Given the description of an element on the screen output the (x, y) to click on. 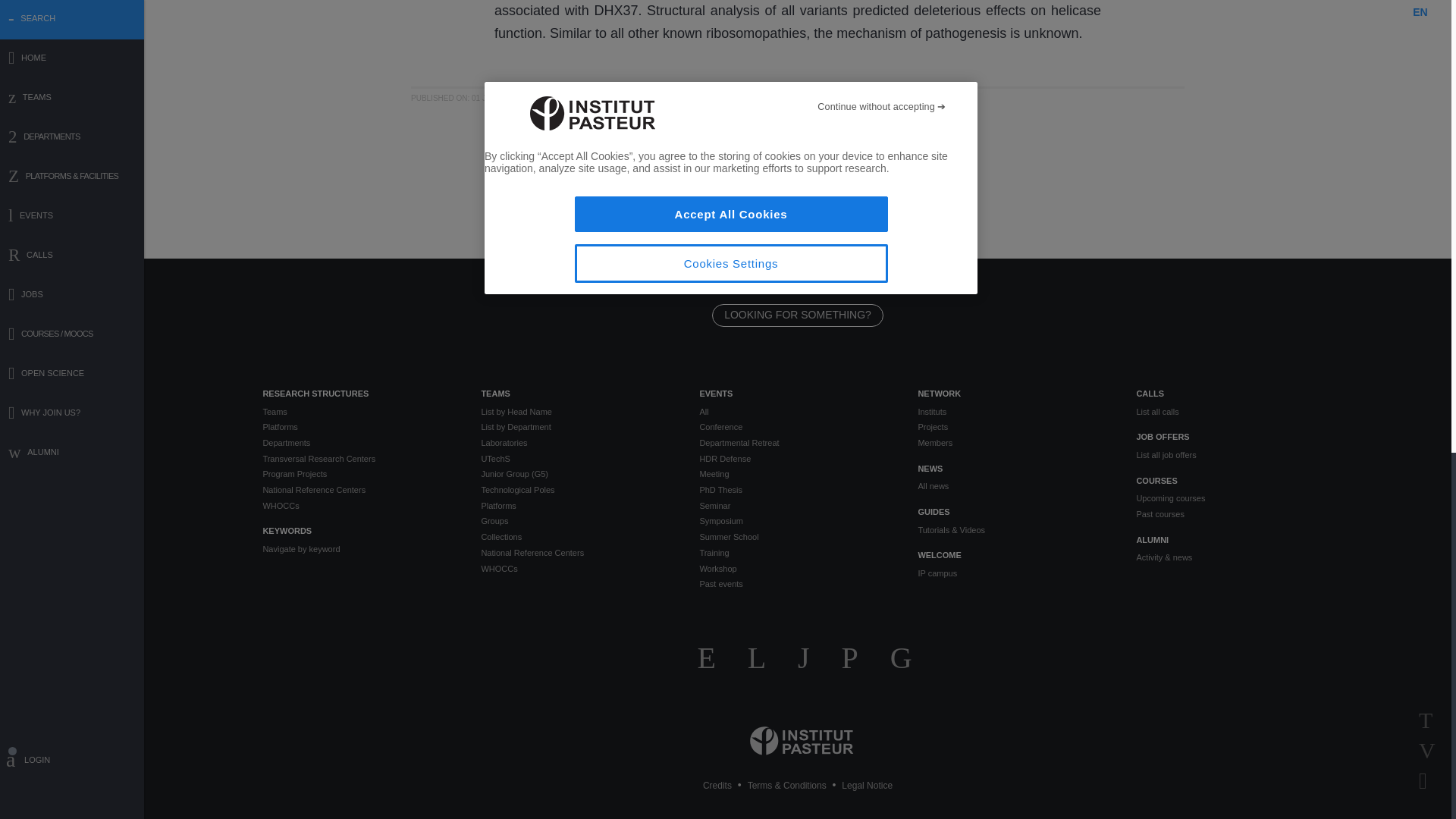
Teams (360, 411)
